Given the description of an element on the screen output the (x, y) to click on. 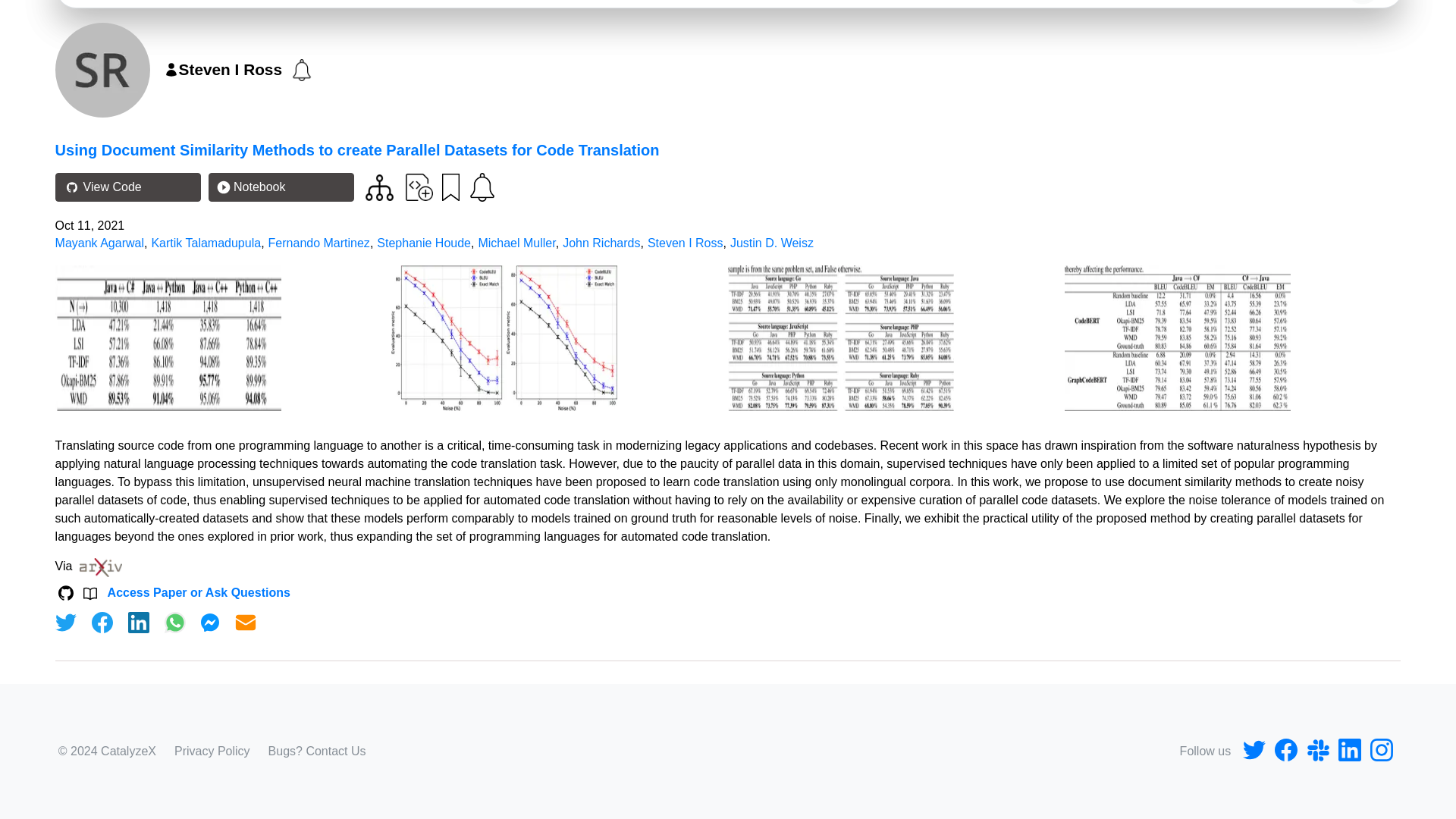
Twitter Icon (1254, 751)
John Richards (601, 242)
View code for similar papers (379, 187)
Fernando Martinez (318, 242)
Notebook (280, 186)
Justin D. Weisz (771, 242)
Kartik Talamadupula (205, 242)
View Code (127, 186)
Privacy Policy (212, 750)
